Given the description of an element on the screen output the (x, y) to click on. 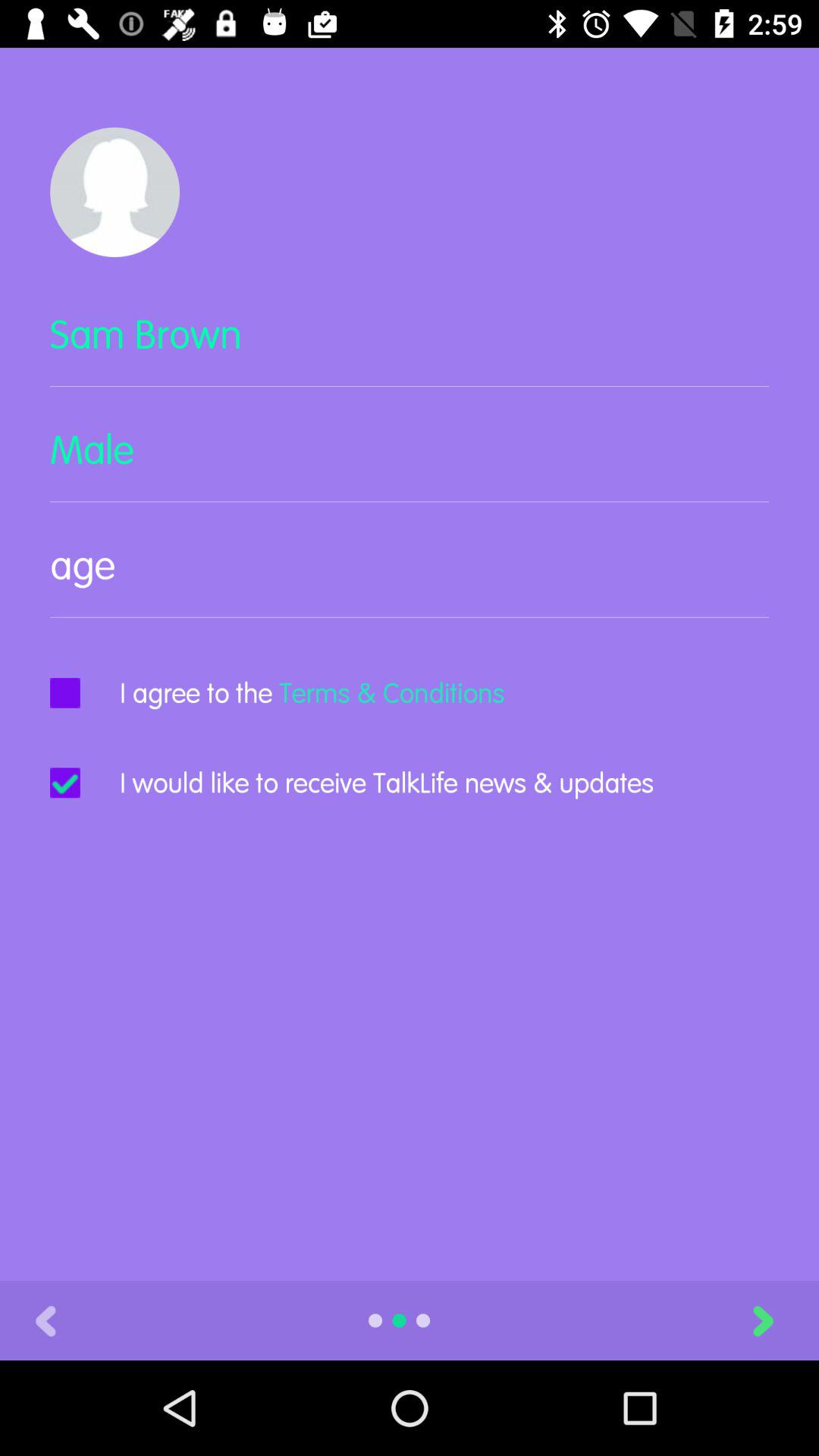
turn off the icon below the male (409, 577)
